Given the description of an element on the screen output the (x, y) to click on. 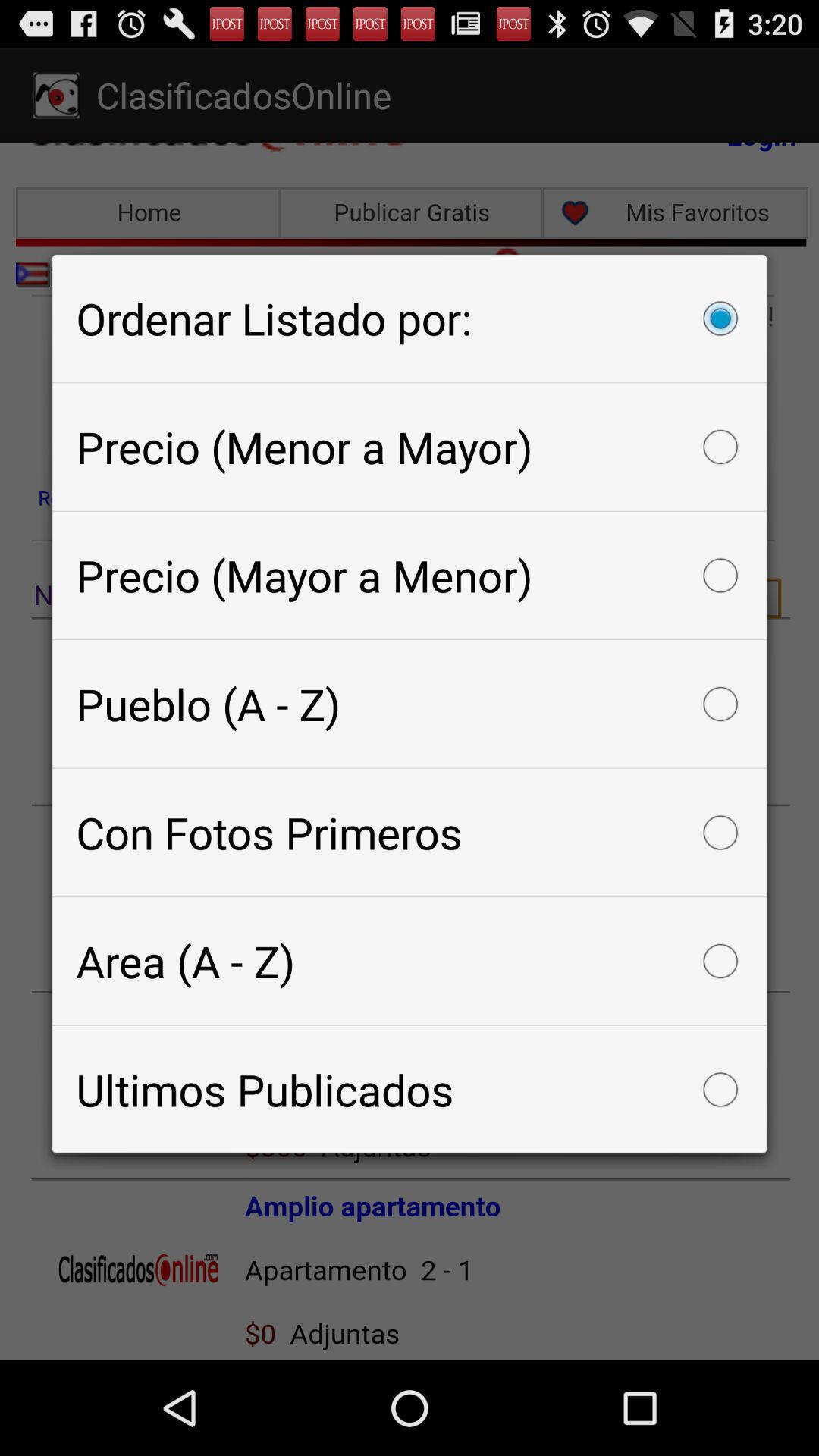
select the checkbox above area (a - z) icon (409, 832)
